Given the description of an element on the screen output the (x, y) to click on. 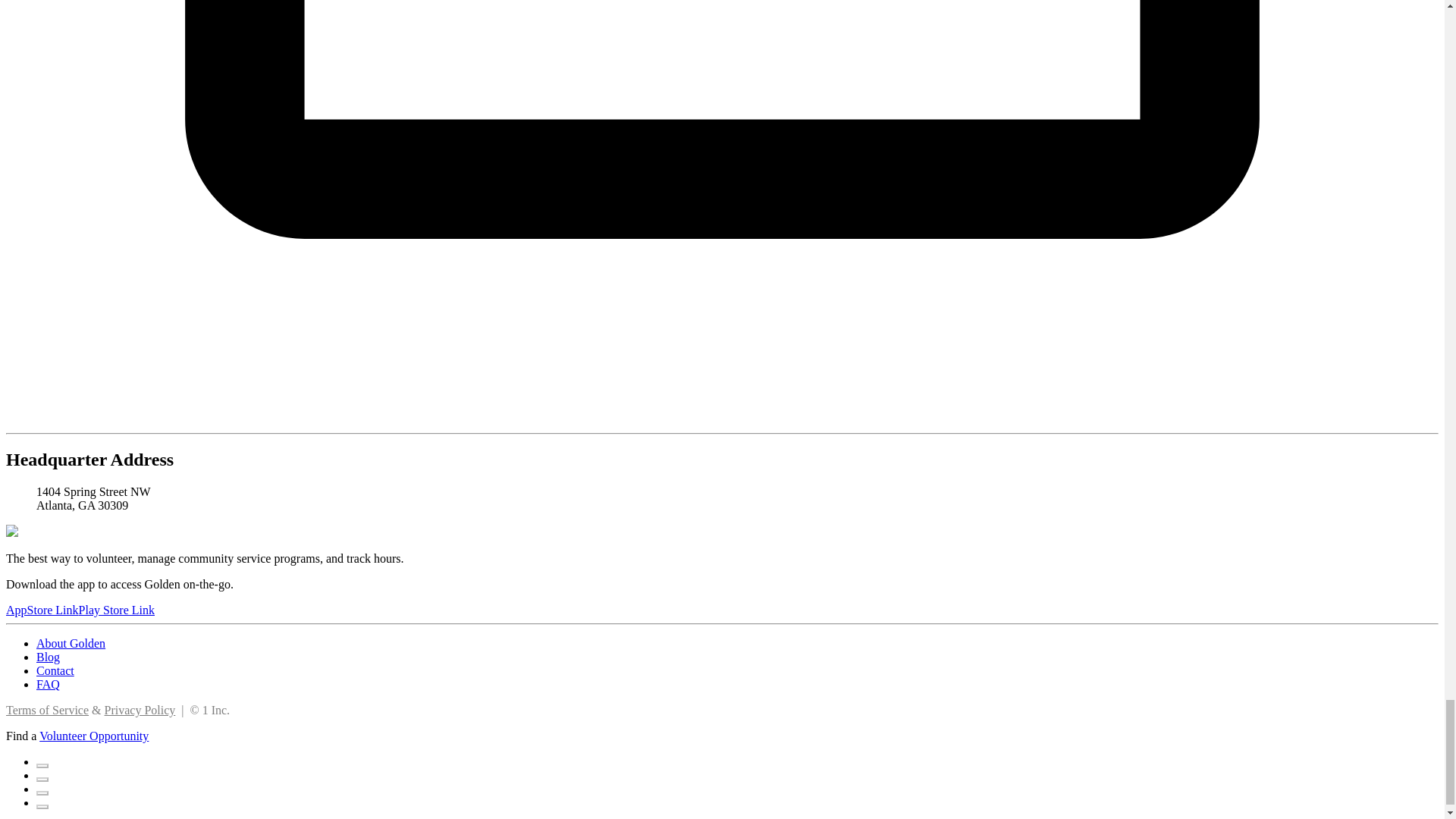
Blog (47, 656)
Play Store Link (116, 609)
Visit Us On Facebook (42, 761)
Blog (47, 656)
Terms of Service (46, 709)
Contact (55, 670)
About Golden (70, 643)
Privacy Policy (140, 709)
Volunteer Opportunity (93, 735)
Visit Us On YouTube (42, 802)
